Given the description of an element on the screen output the (x, y) to click on. 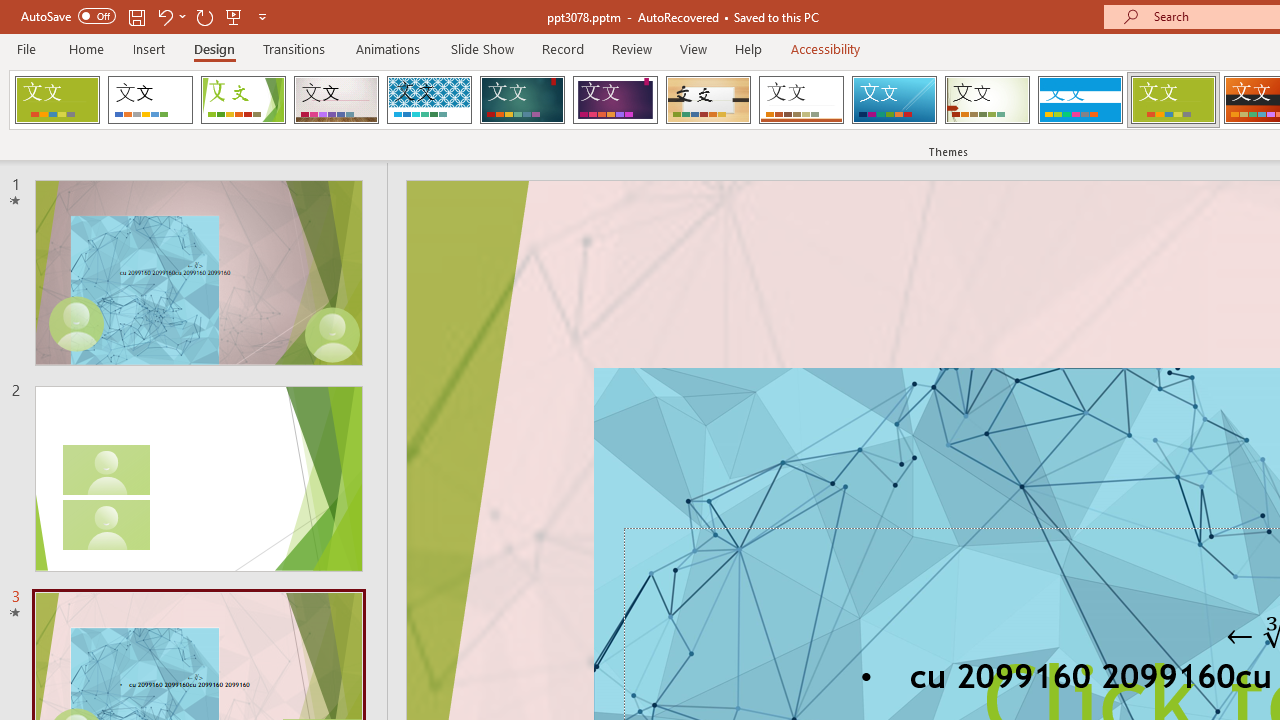
Wisp (987, 100)
